Given the description of an element on the screen output the (x, y) to click on. 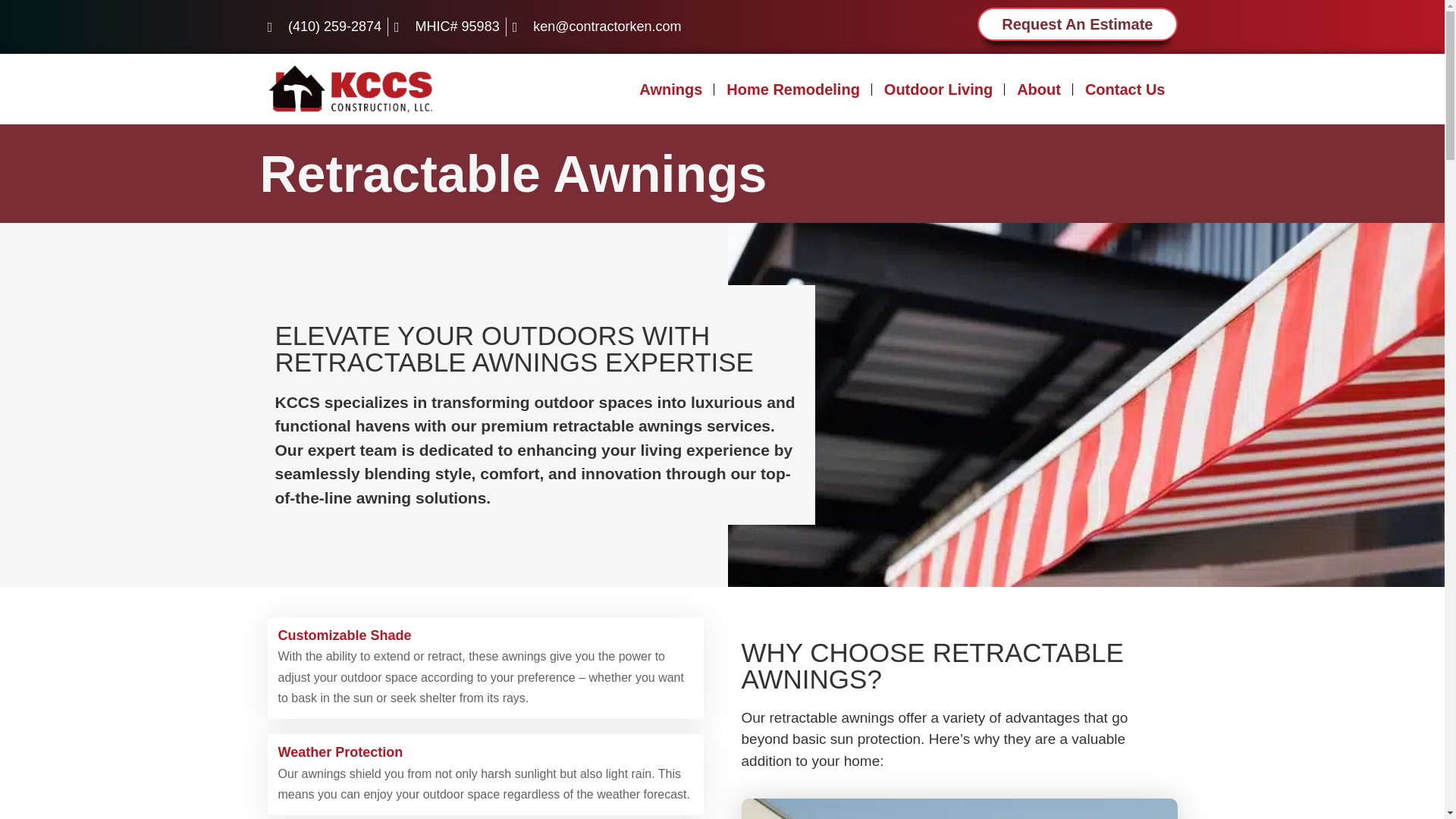
Contact Us (1125, 88)
Home Remodeling (793, 88)
Outdoor Living (937, 88)
Request An Estimate (1076, 23)
Retractable Awnings 1 (959, 808)
About (1038, 88)
Awnings (670, 88)
